Given the description of an element on the screen output the (x, y) to click on. 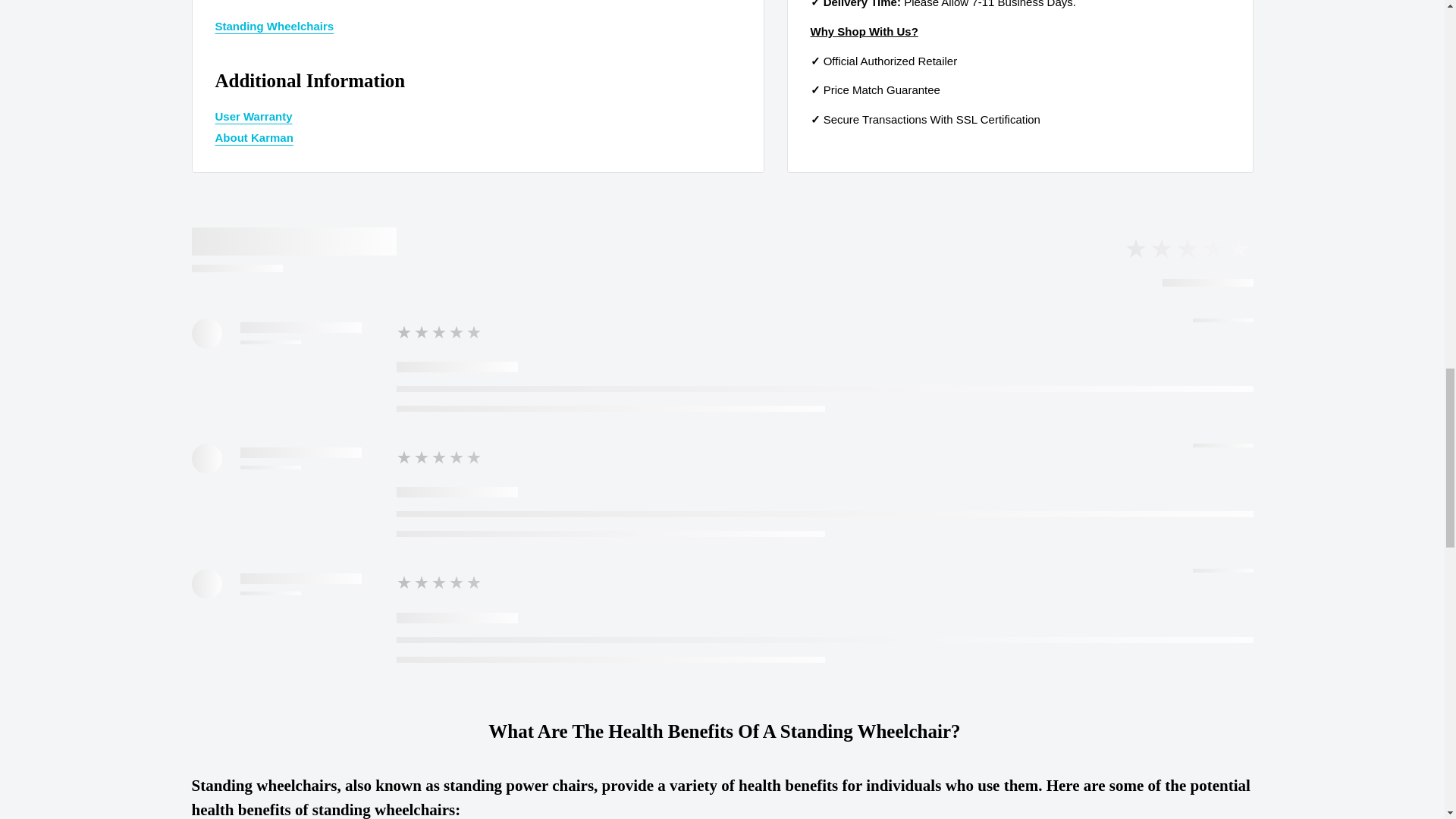
Karman User Warranty (253, 115)
About Karman (254, 137)
Standing Wheelchairs (274, 25)
